Given the description of an element on the screen output the (x, y) to click on. 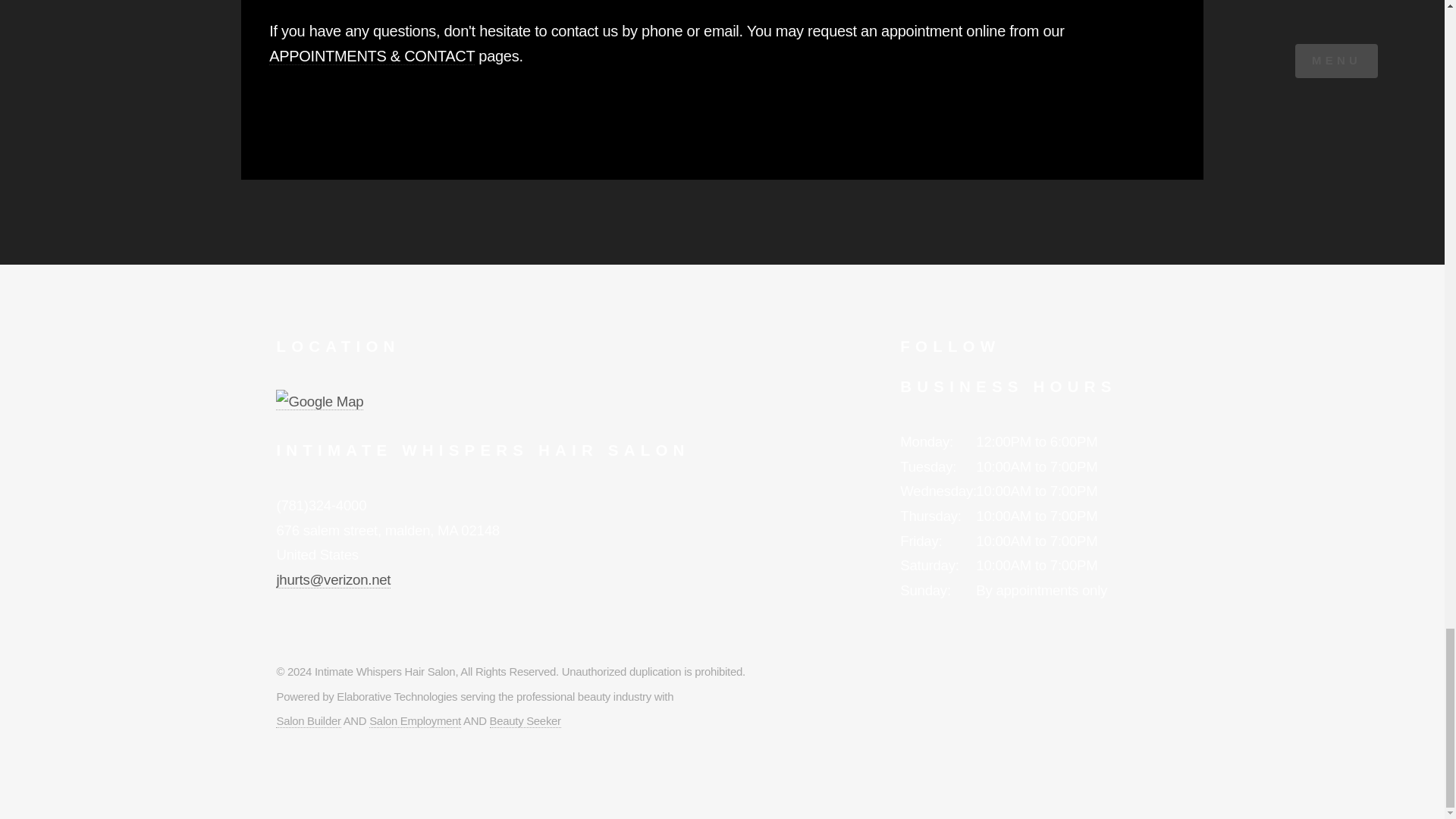
Salon Employment - Salon Jobs and Spa Jobs (415, 721)
Salons, Spas, Health and Beauty Services in the USA (524, 721)
Salon Employment (415, 721)
Salon Builder - Salon Websites and Spa Websites (308, 721)
Beauty Seeker (524, 721)
Salon Builder (308, 721)
